Given the description of an element on the screen output the (x, y) to click on. 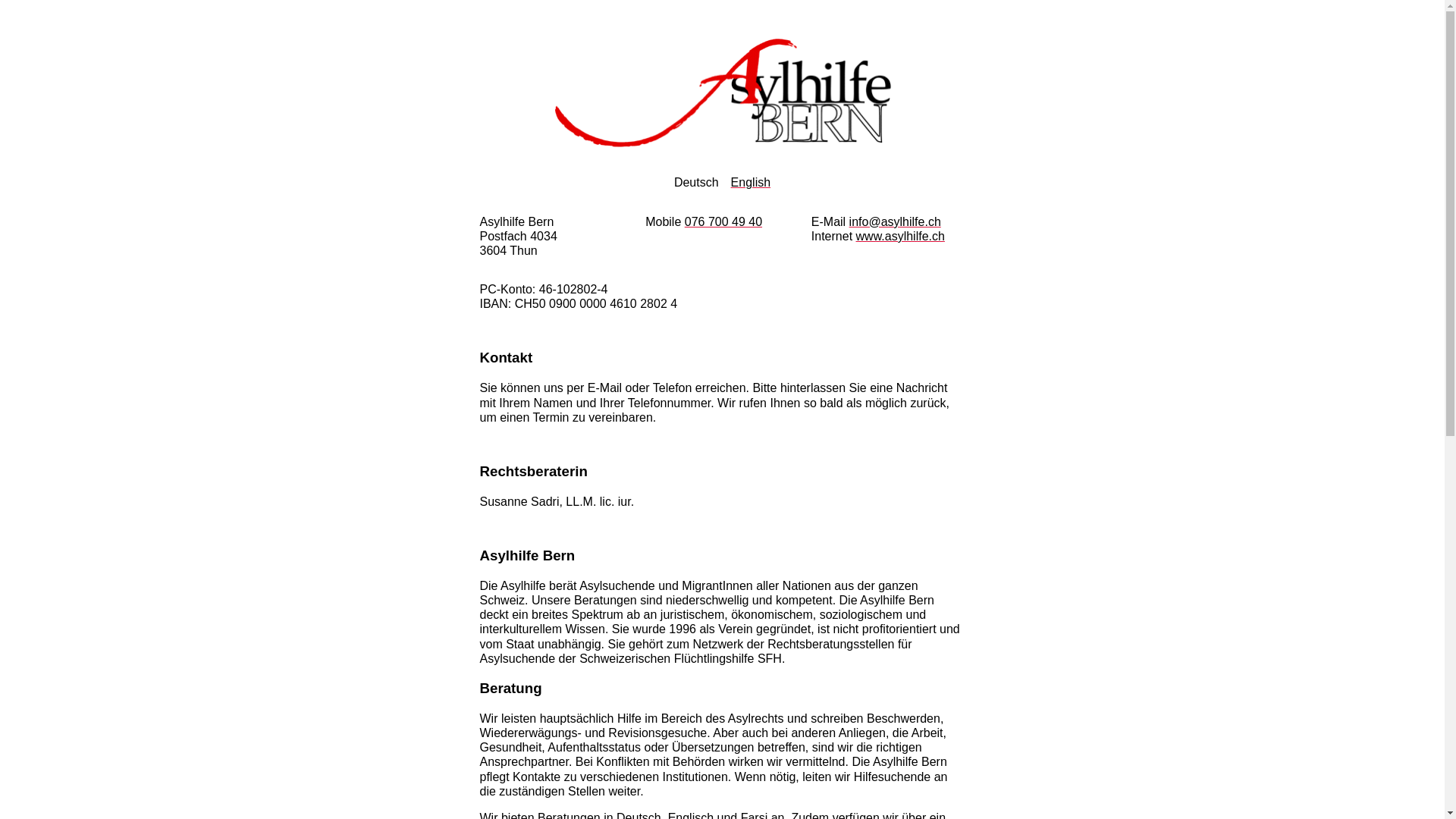
www.asylhilfe.ch Element type: text (900, 235)
English Element type: text (750, 182)
info@asylhilfe.ch Element type: text (895, 221)
Deutsch Element type: text (696, 182)
076 700 49 40 Element type: text (723, 221)
